Given the description of an element on the screen output the (x, y) to click on. 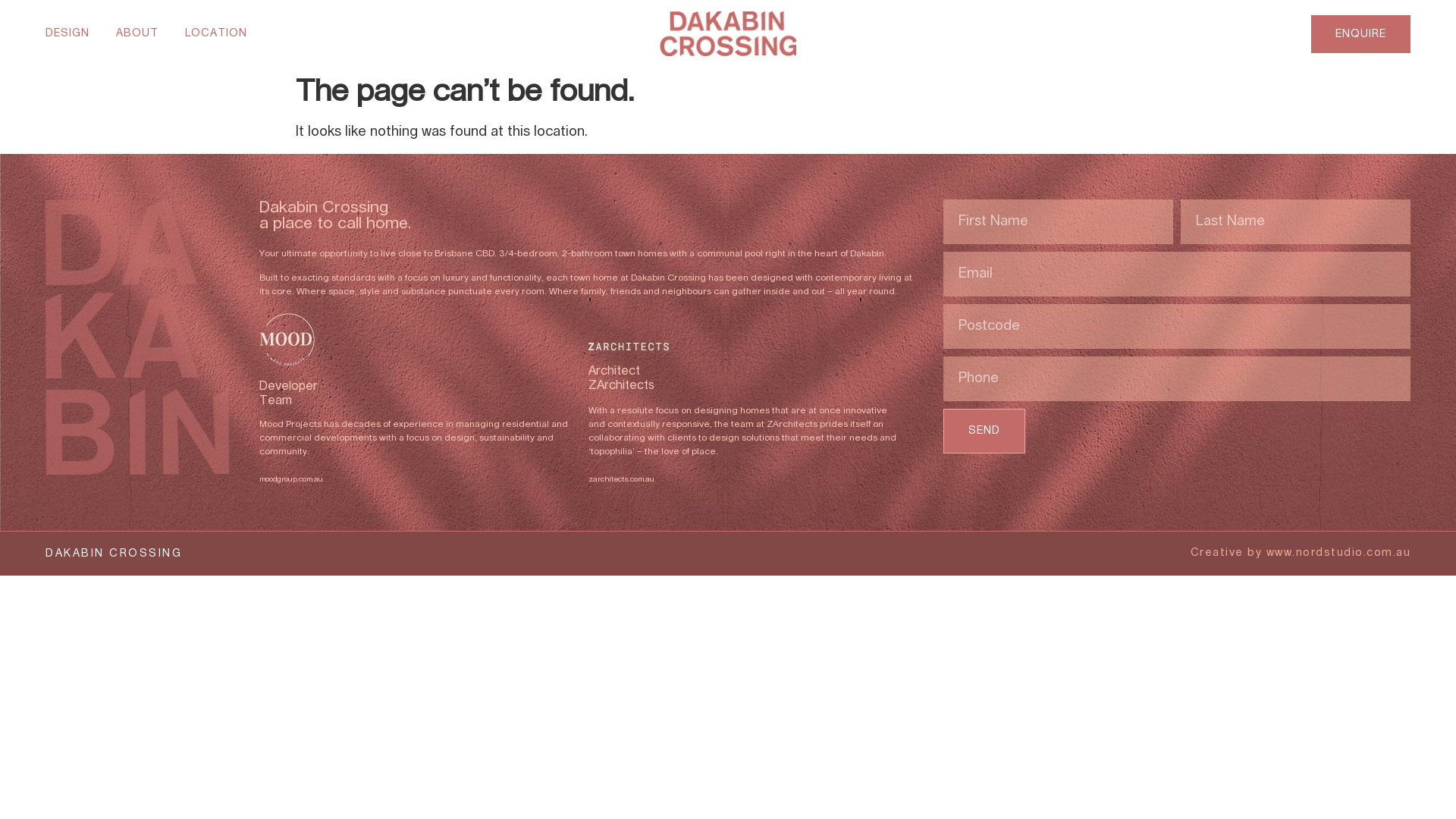
SEND Element type: text (984, 430)
ABOUT Element type: text (137, 33)
moodgroup.com.au Element type: text (291, 479)
LOCATION Element type: text (216, 33)
DAKABIN CROSSING Element type: text (113, 553)
ENQUIRE Element type: text (1360, 34)
DESIGN Element type: text (67, 33)
Creative by www.nordstudio.com.au Element type: text (1300, 552)
zarchitects.com.au Element type: text (621, 479)
